Given the description of an element on the screen output the (x, y) to click on. 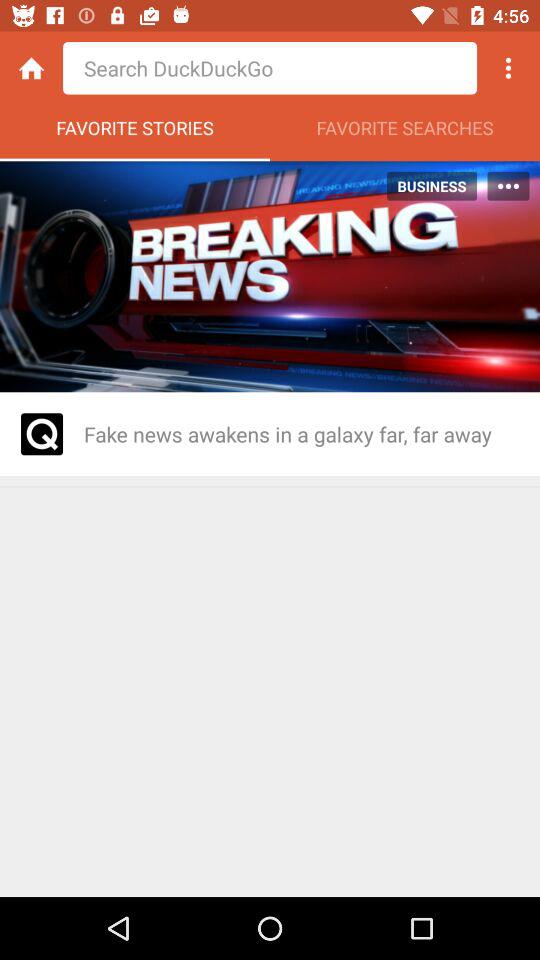
flip to favorite searches app (405, 133)
